Given the description of an element on the screen output the (x, y) to click on. 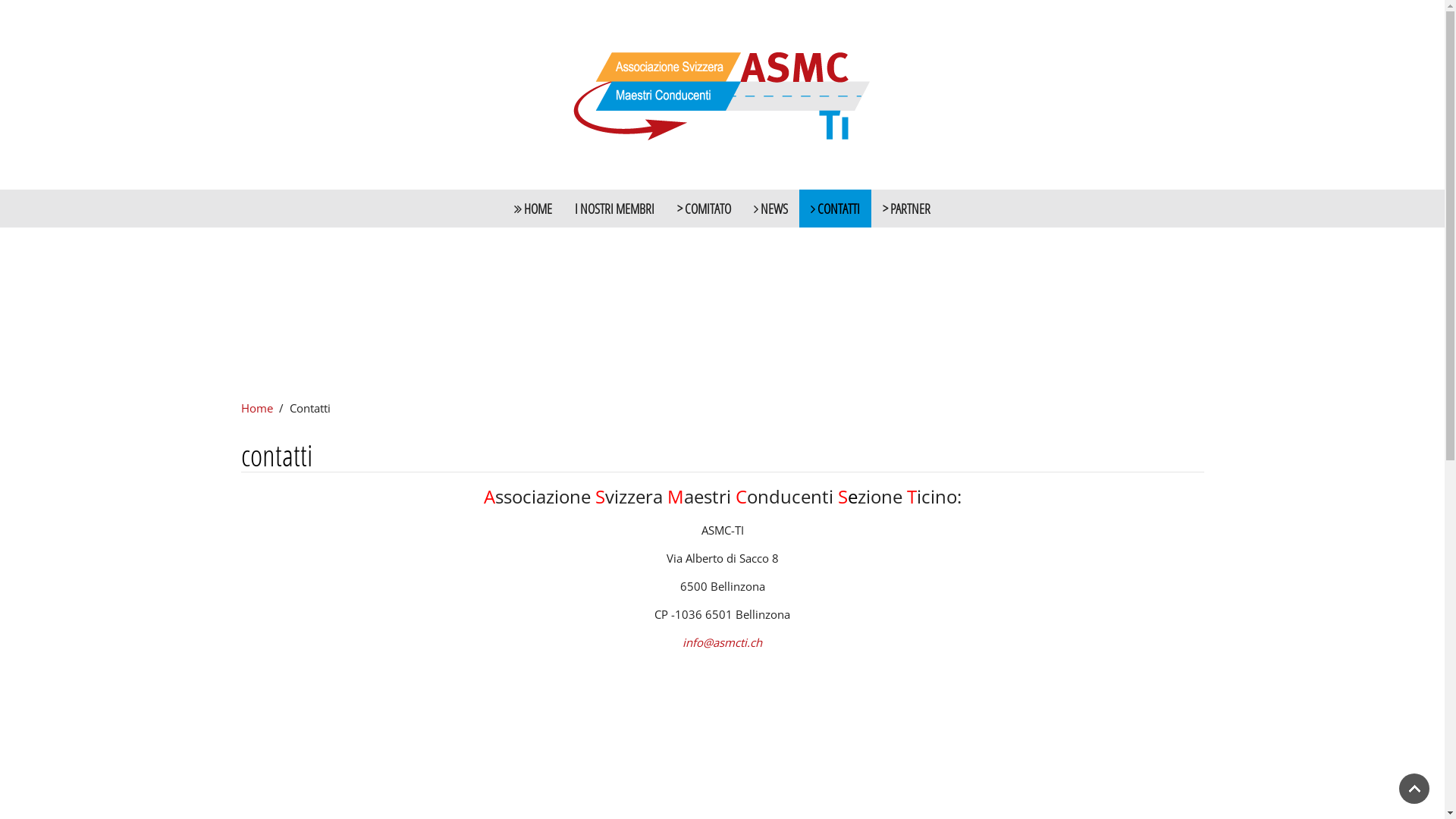
NEWS Element type: text (770, 208)
> COMITATO Element type: text (703, 208)
> PARTNER Element type: text (906, 208)
info@asmcti.ch Element type: text (722, 641)
Home Element type: text (257, 408)
I NOSTRI MEMBRI Element type: text (614, 208)
CONTATTI Element type: text (835, 208)
HOME Element type: text (532, 208)
